Given the description of an element on the screen output the (x, y) to click on. 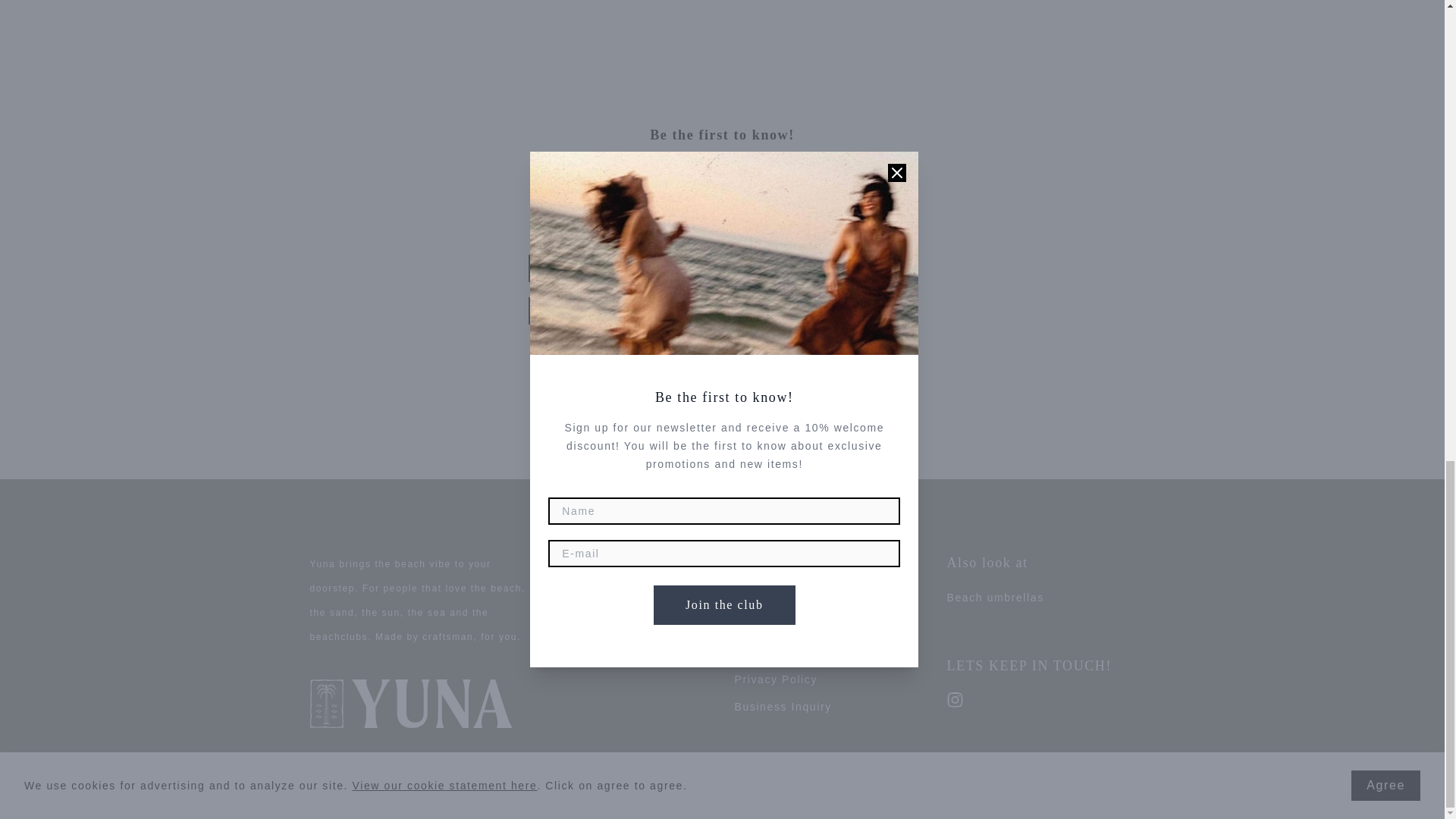
Privacy Policy (774, 679)
Beach umbrellas (994, 597)
Business Inquiry (782, 707)
Yuna (607, 561)
Join the club (721, 362)
Hippie Fish (627, 593)
About us (619, 625)
Customer Support (786, 597)
